Given the description of an element on the screen output the (x, y) to click on. 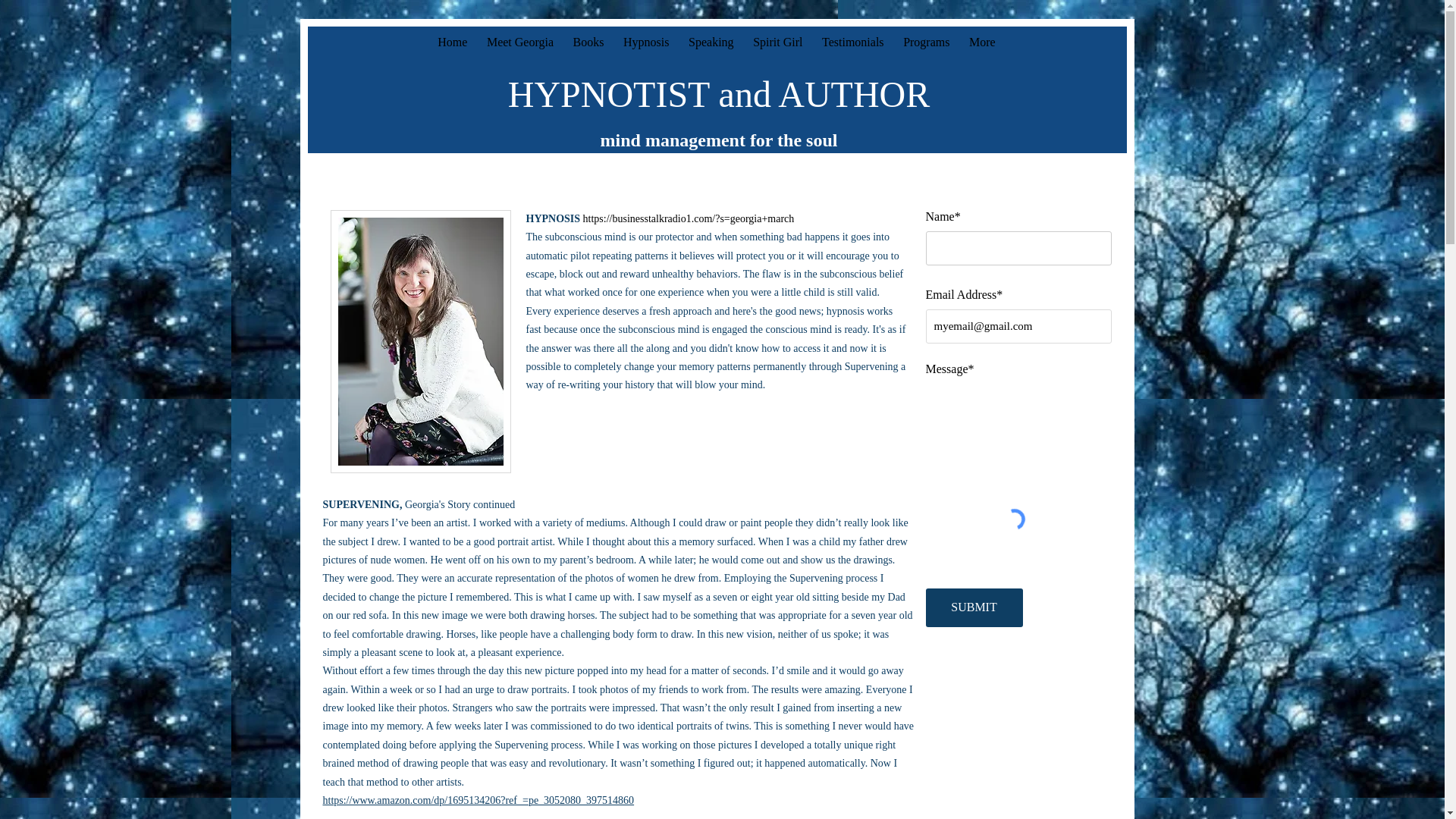
More (981, 42)
Hypnosis (645, 42)
Programs (926, 42)
Spirit Girl (777, 42)
Meet Georgia (520, 42)
Embedded Content (1023, 663)
Embedded Content (1023, 716)
SUBMIT (973, 607)
Testimonials (852, 42)
Home (452, 42)
